Given the description of an element on the screen output the (x, y) to click on. 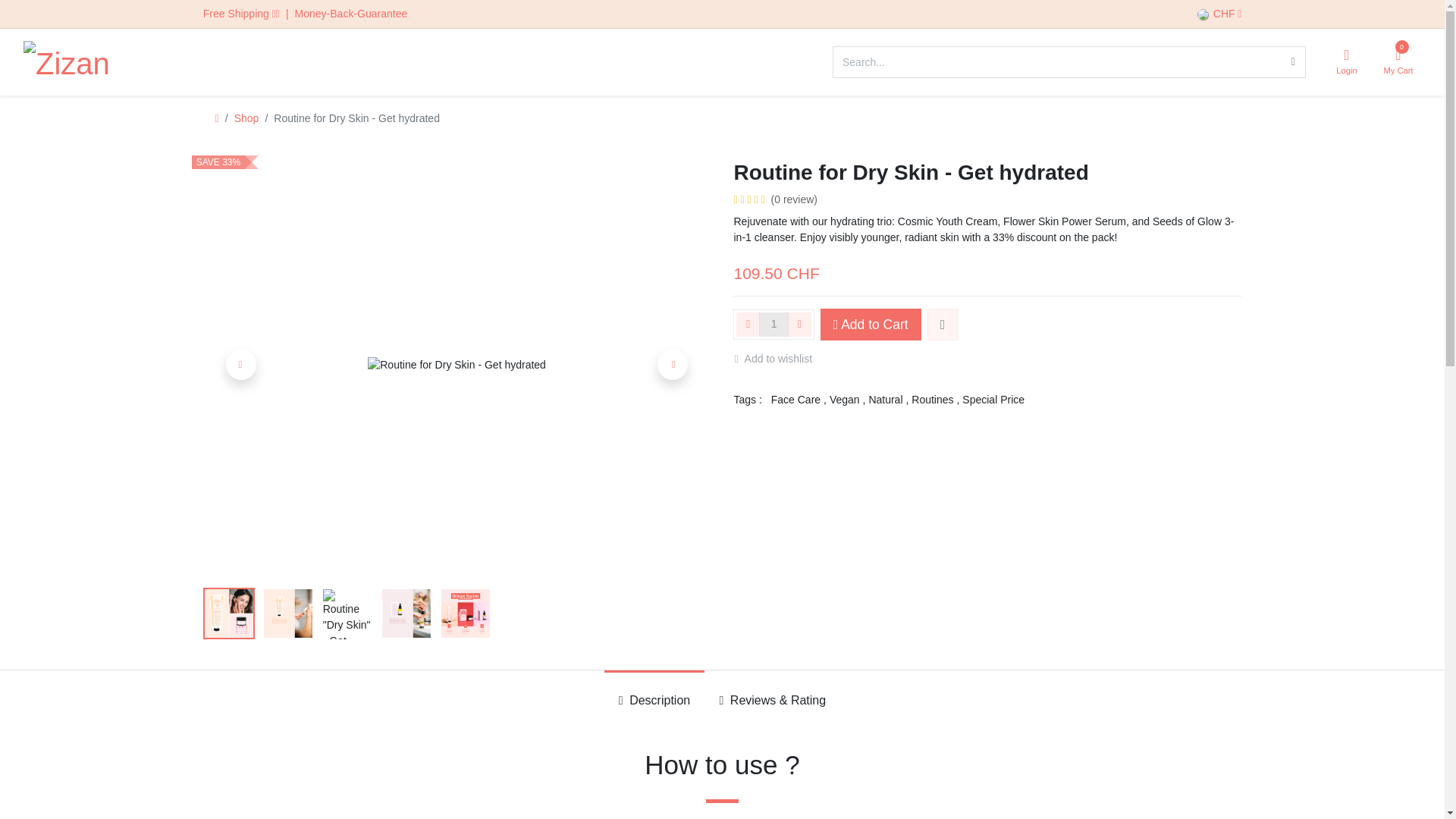
1 (773, 324)
Zizania Biobotanica (65, 61)
CHF (1218, 13)
